Given the description of an element on the screen output the (x, y) to click on. 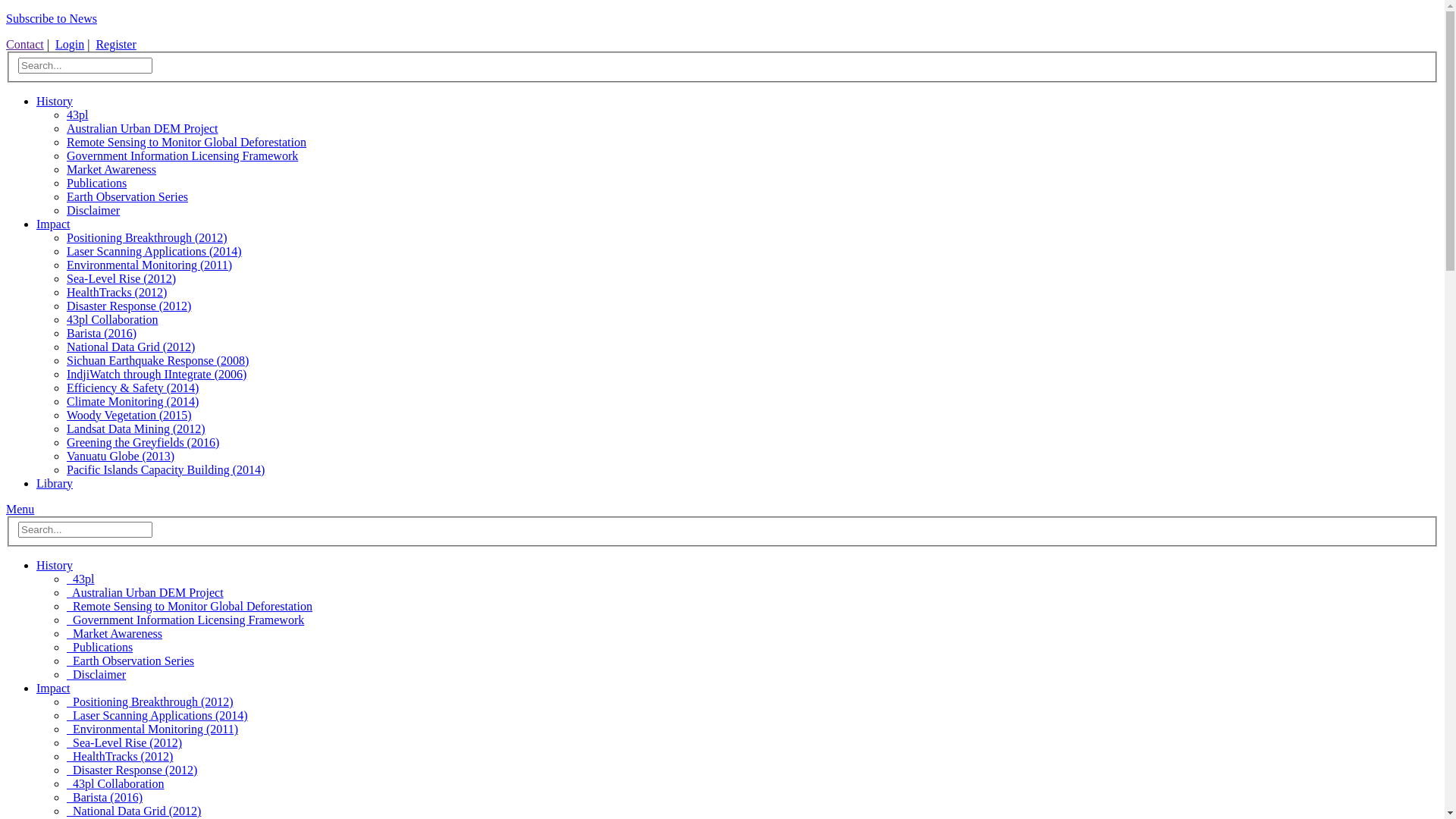
Subscribe to News Element type: text (51, 18)
  43pl Collaboration Element type: text (114, 783)
Landsat Data Mining (2012) Element type: text (135, 428)
Register Element type: text (115, 43)
Impact Element type: text (52, 687)
History Element type: text (54, 564)
Government Information Licensing Framework Element type: text (182, 155)
  Barista (2016) Element type: text (104, 796)
Earth Observation Series Element type: text (127, 196)
IndjiWatch through IIntegrate (2006) Element type: text (156, 373)
  Australian Urban DEM Project Element type: text (144, 592)
Contact Element type: text (24, 43)
  National Data Grid (2012) Element type: text (133, 810)
  Disaster Response (2012) Element type: text (131, 769)
Barista (2016) Element type: text (101, 332)
Laser Scanning Applications (2014) Element type: text (153, 250)
Greening the Greyfields (2016) Element type: text (142, 442)
Remote Sensing to Monitor Global Deforestation Element type: text (186, 141)
Sea-Level Rise (2012) Element type: text (120, 278)
43pl Element type: text (76, 114)
  Government Information Licensing Framework Element type: text (185, 619)
Australian Urban DEM Project Element type: text (142, 128)
National Data Grid (2012) Element type: text (130, 346)
Impact Element type: text (52, 223)
  Environmental Monitoring (2011) Element type: text (152, 728)
  HealthTracks (2012) Element type: text (119, 755)
Efficiency & Safety (2014) Element type: text (132, 387)
Disaster Response (2012) Element type: text (128, 305)
Publications Element type: text (96, 182)
Climate Monitoring (2014) Element type: text (132, 401)
Market Awareness Element type: text (111, 169)
  Disclaimer Element type: text (95, 674)
Sichuan Earthquake Response (2008) Element type: text (157, 360)
Environmental Monitoring (2011) Element type: text (149, 264)
Disclaimer Element type: text (92, 209)
Login Element type: text (69, 43)
  Publications Element type: text (99, 646)
Vanuatu Globe (2013) Element type: text (120, 455)
HealthTracks (2012) Element type: text (116, 291)
Woody Vegetation (2015) Element type: text (128, 414)
  Earth Observation Series Element type: text (130, 660)
  43pl Element type: text (80, 578)
Library Element type: text (54, 482)
  Remote Sensing to Monitor Global Deforestation Element type: text (189, 605)
Menu Element type: text (20, 508)
43pl Collaboration Element type: text (111, 319)
  Laser Scanning Applications (2014) Element type: text (156, 715)
History Element type: text (54, 100)
Pacific Islands Capacity Building (2014) Element type: text (165, 469)
  Positioning Breakthrough (2012) Element type: text (149, 701)
Positioning Breakthrough (2012) Element type: text (146, 237)
  Sea-Level Rise (2012) Element type: text (124, 742)
  Market Awareness Element type: text (114, 633)
